Given the description of an element on the screen output the (x, y) to click on. 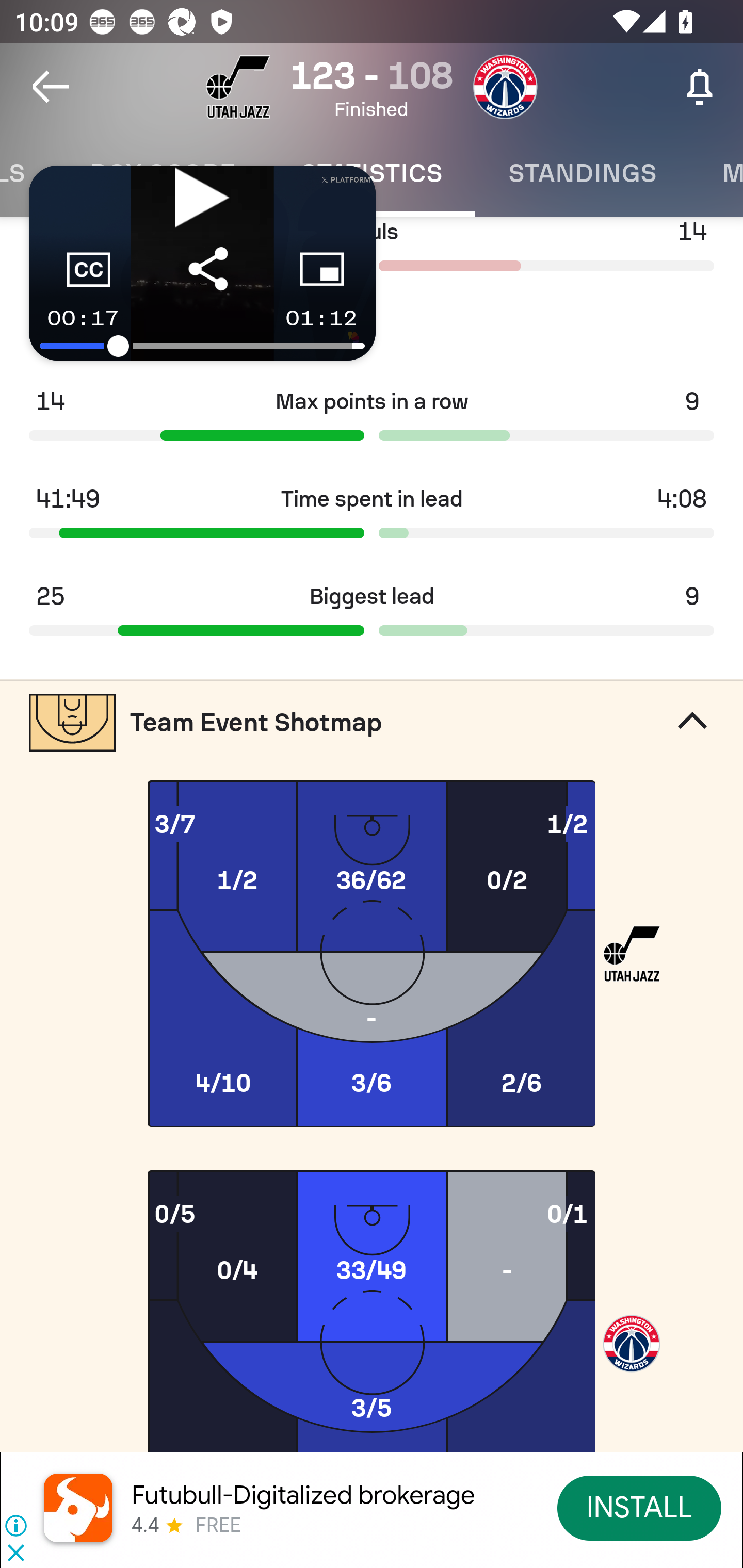
Navigate up (50, 86)
Standings STANDINGS (581, 173)
14 Max points in a row 9 608.0 391.0 (371, 421)
41:49 Time spent in lead 4:08 910.0 89.0 (371, 518)
25 Biggest lead 9 735.0 264.0 (371, 615)
Team Event Shotmap (371, 721)
INSTALL (639, 1507)
Futubull-Digitalized brokerage (302, 1494)
